Given the description of an element on the screen output the (x, y) to click on. 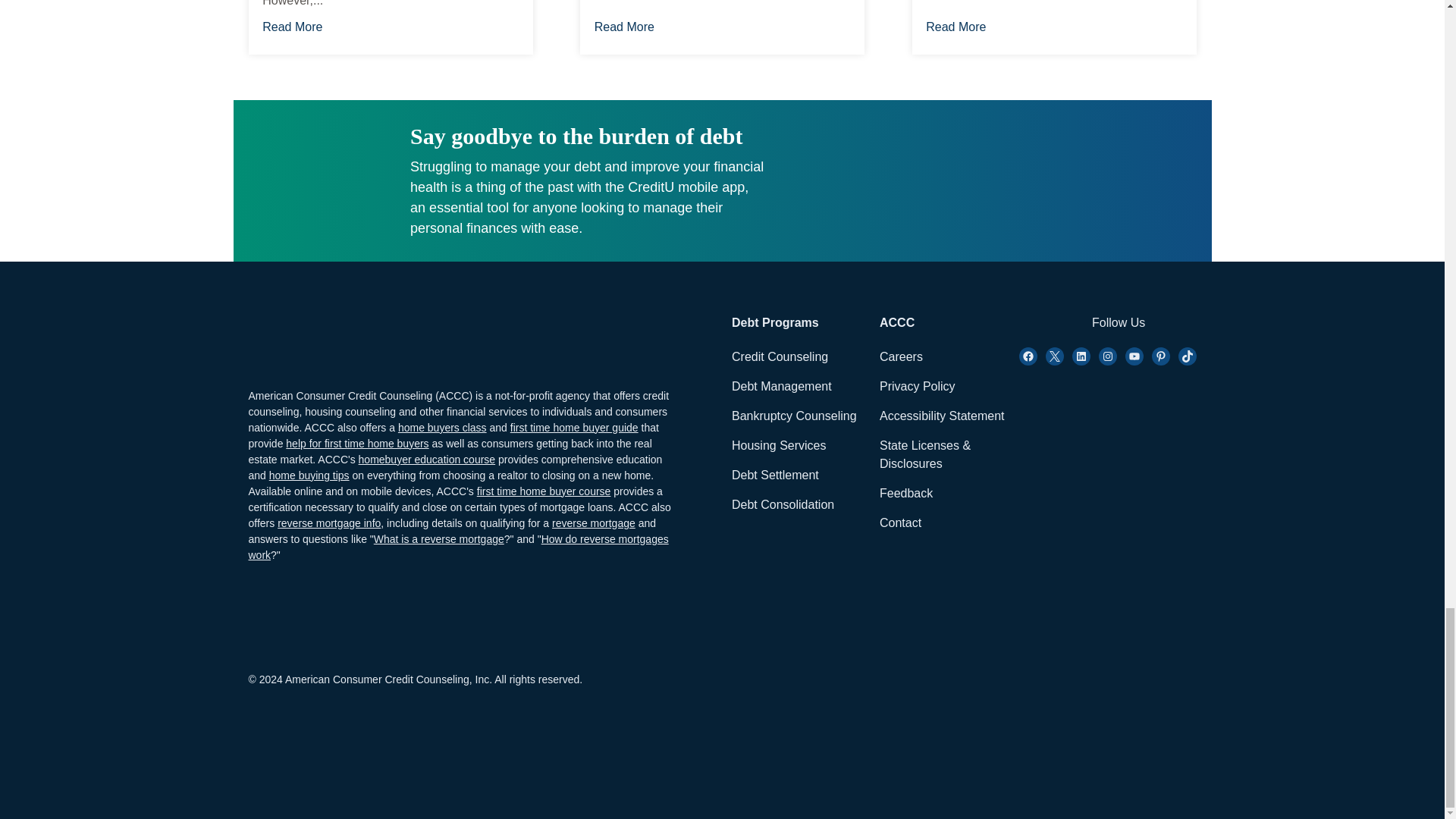
youtube (1133, 356)
twitter (1053, 356)
tiktok (1186, 356)
facebook (1027, 356)
instagram (1106, 356)
instagram (1080, 356)
pinterest (1160, 356)
